Given the description of an element on the screen output the (x, y) to click on. 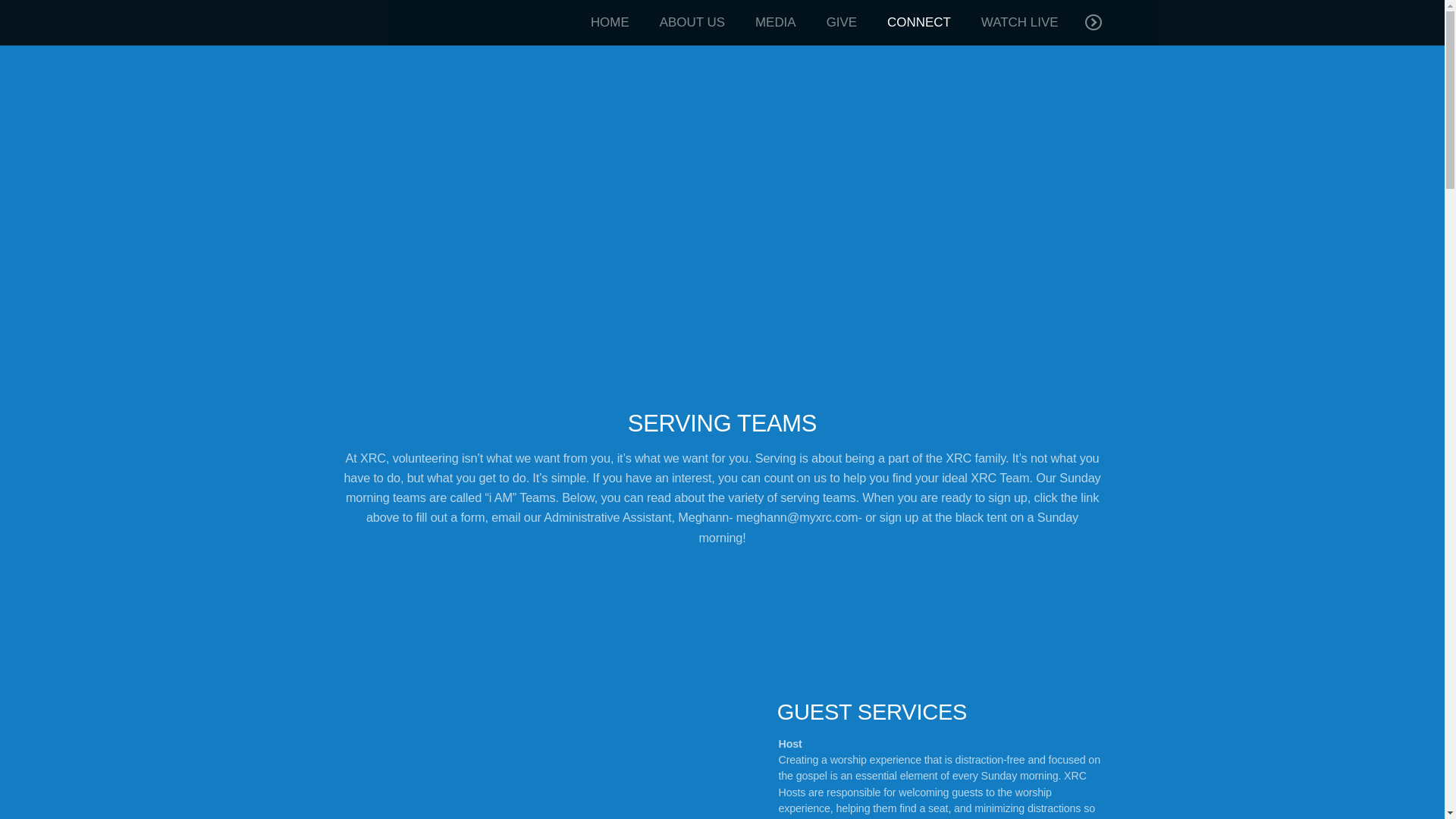
WATCH LIVE (1020, 22)
HOME (610, 22)
MEDIA (774, 22)
ABOUT US (692, 22)
CONNECT (919, 22)
GIVE (841, 22)
